Given the description of an element on the screen output the (x, y) to click on. 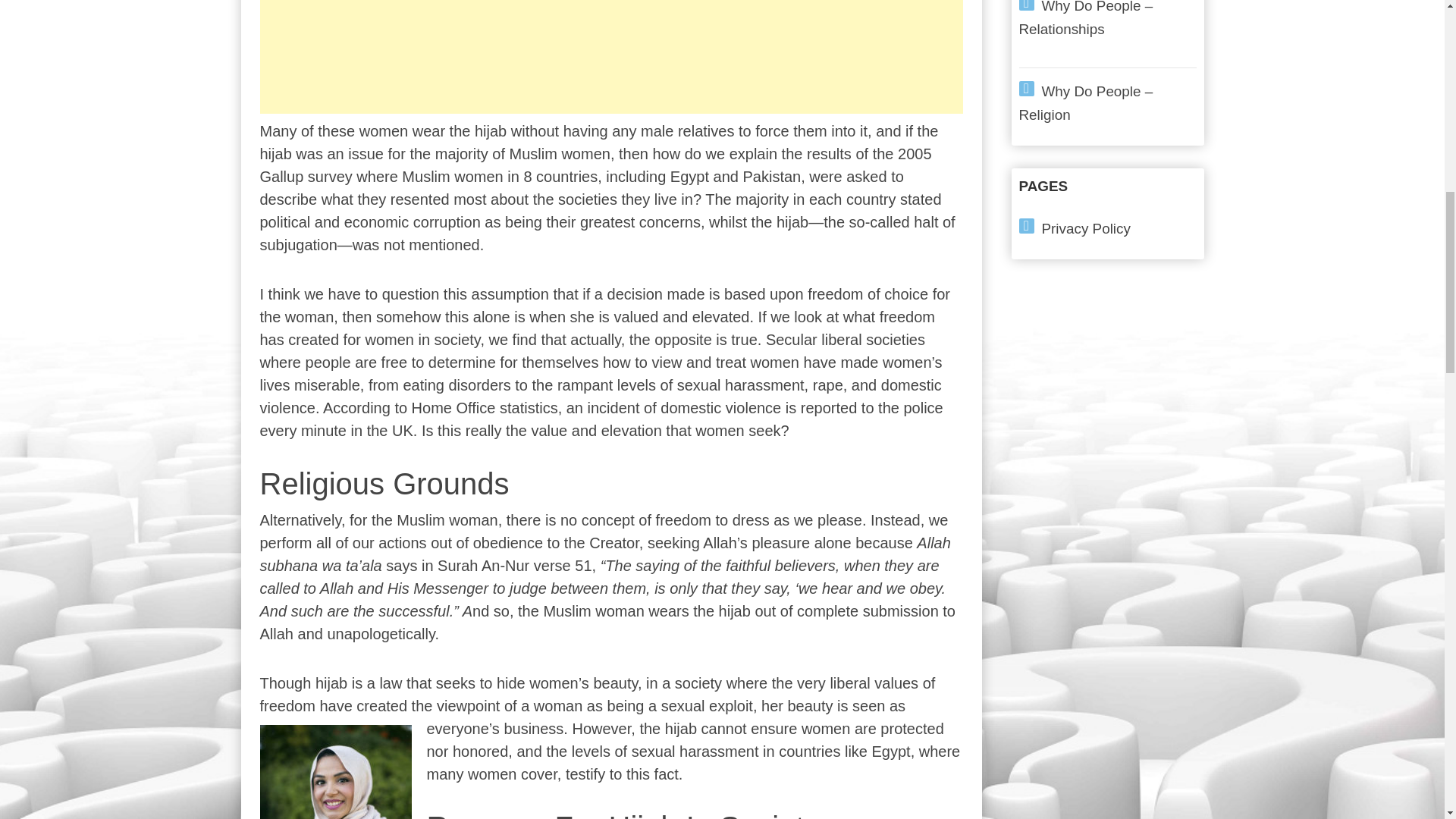
Advertisement (610, 56)
